Given the description of an element on the screen output the (x, y) to click on. 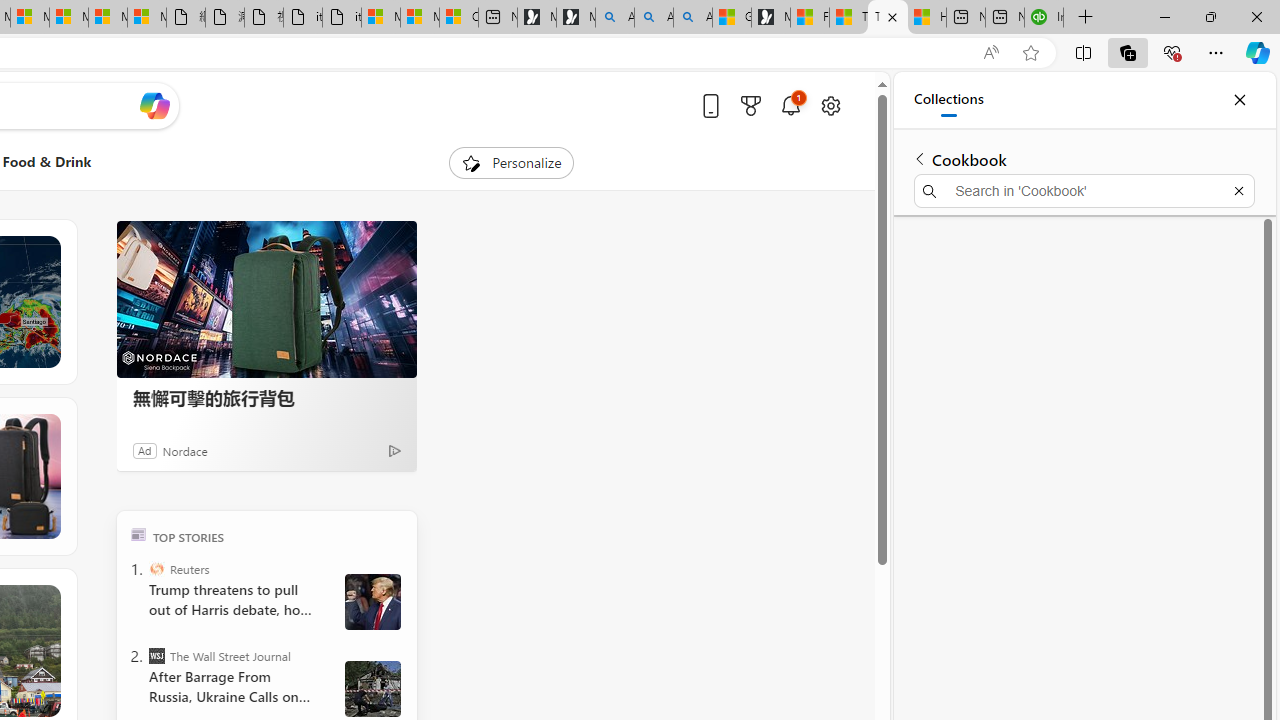
Food and Drink - MSN (810, 17)
